Given the description of an element on the screen output the (x, y) to click on. 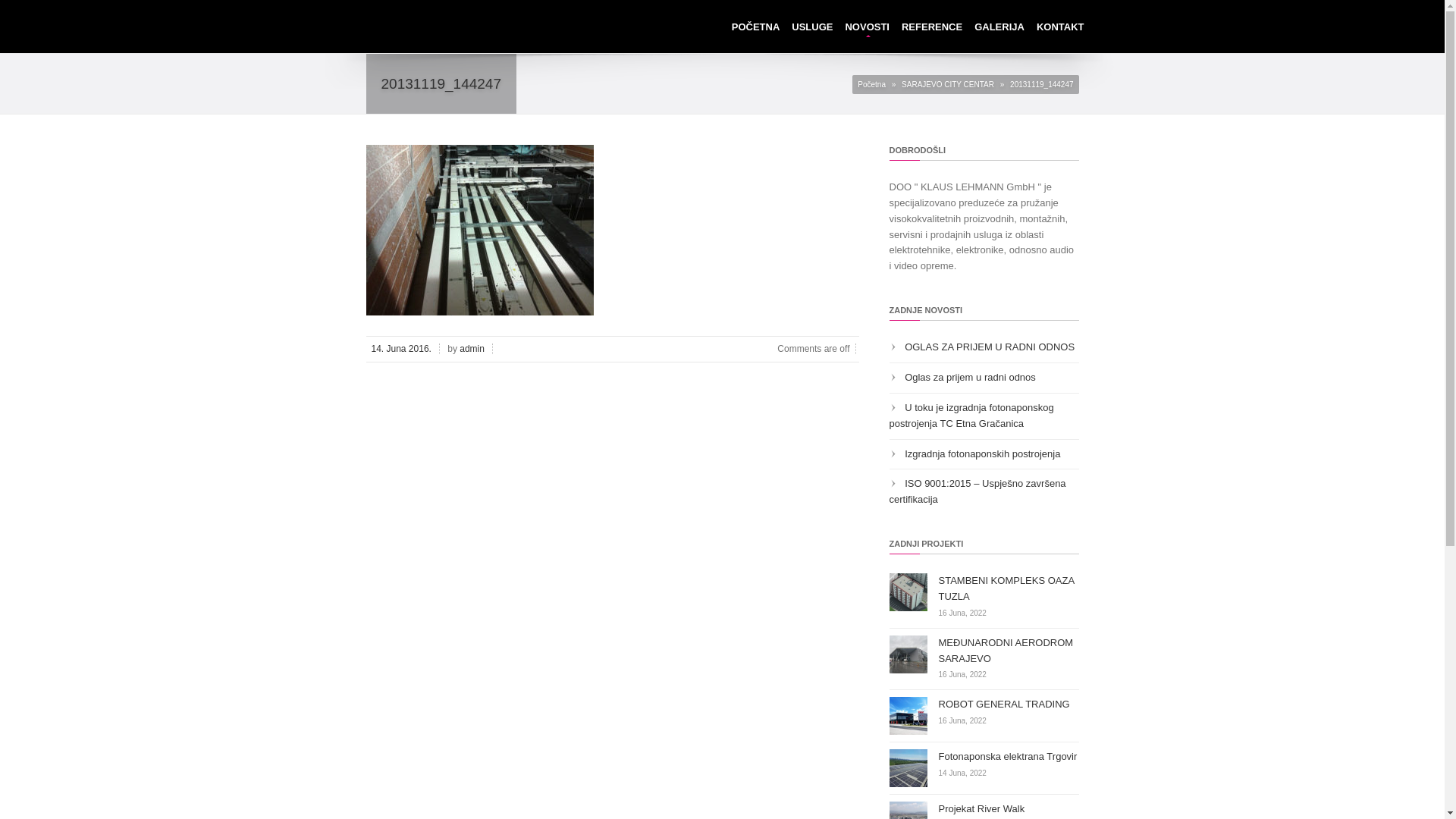
Oglas za prijem u radni odnos Element type: text (969, 376)
STAMBENI KOMPLEKS OAZA TUZLA Element type: text (1006, 588)
NOVOSTI Element type: text (866, 23)
Izgradnja fotonaponskih postrojenja Element type: text (982, 453)
14. Juna 2016. Element type: text (402, 348)
ROBOT GENERAL TRADING Element type: text (1004, 703)
GALERIJA Element type: text (999, 24)
REFERENCE Element type: text (931, 24)
USLUGE Element type: text (811, 24)
OGLAS ZA PRIJEM U RADNI ODNOS Element type: text (989, 346)
Fotonaponska elektrana Trgovir Element type: text (1007, 756)
Projekat River Walk Element type: text (981, 808)
admin Element type: text (472, 348)
KONTAKT Element type: text (1060, 24)
SARAJEVO CITY CENTAR Element type: text (947, 84)
